Given the description of an element on the screen output the (x, y) to click on. 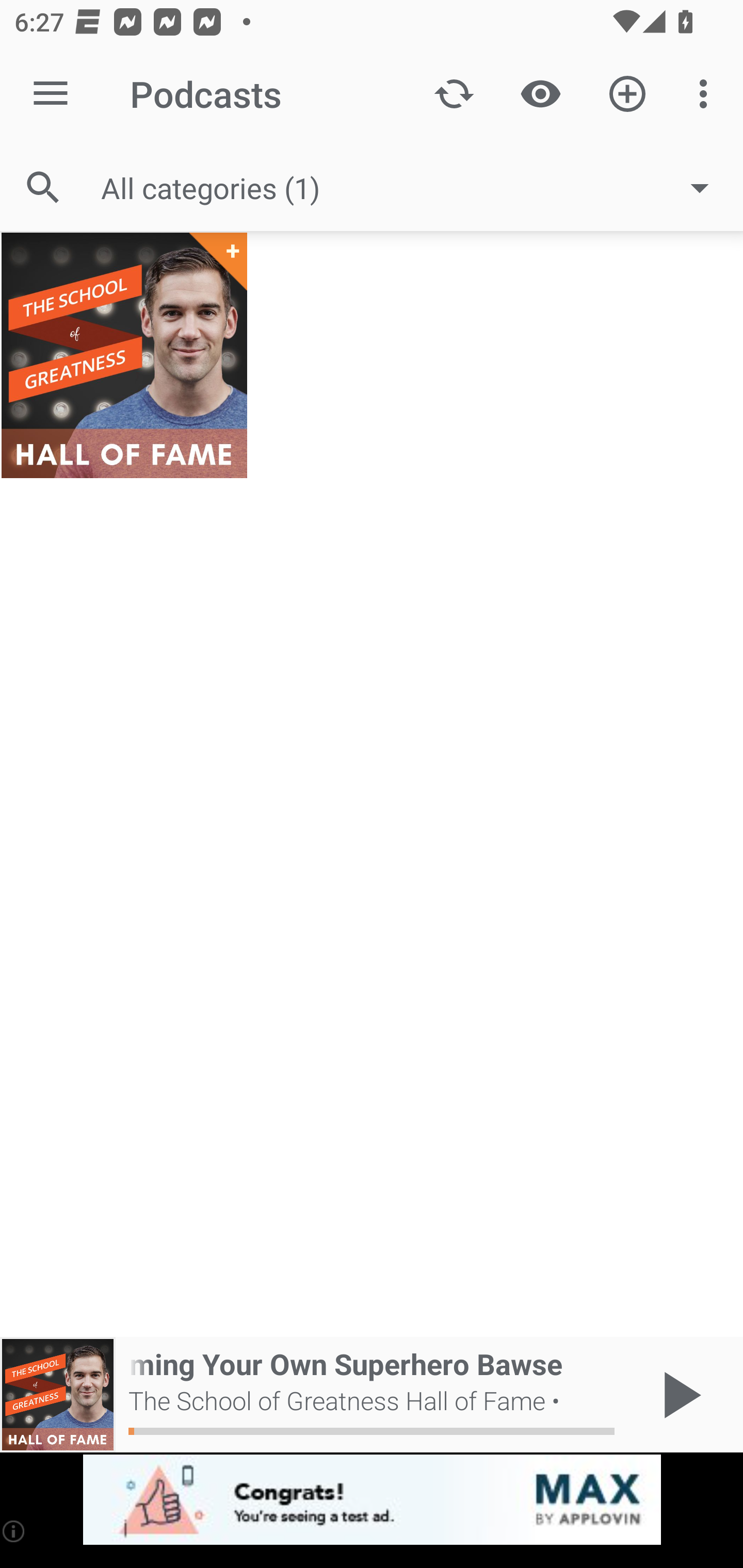
Open navigation sidebar (50, 93)
Update (453, 93)
Show / Hide played content (540, 93)
Add new Podcast (626, 93)
More options (706, 93)
Search (43, 187)
All categories (1) (414, 188)
The School of Greatness Hall of Fame + (124, 355)
Play / Pause (677, 1394)
app-monetization (371, 1500)
(i) (14, 1531)
